Given the description of an element on the screen output the (x, y) to click on. 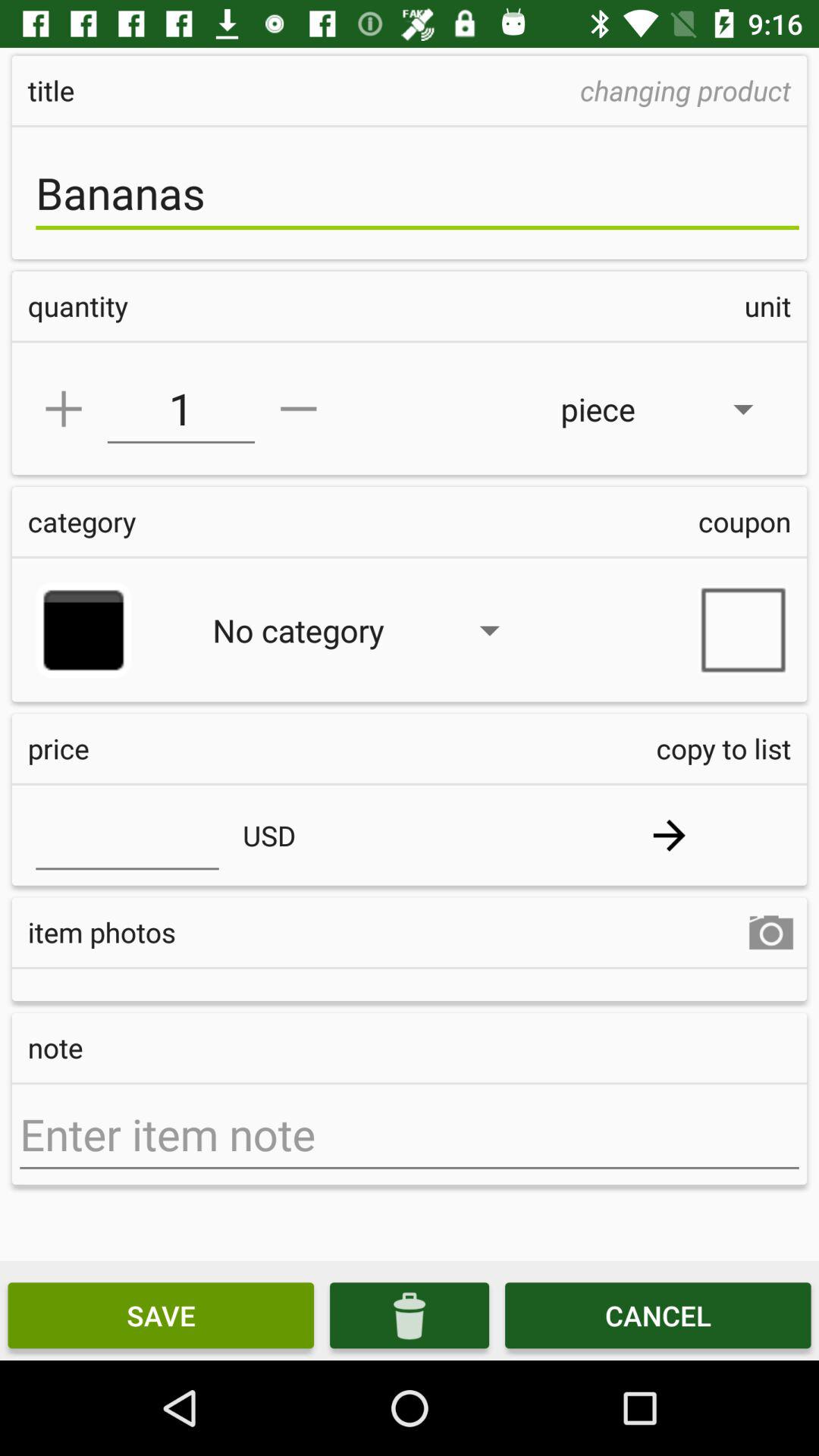
turn on the item to the right of the save (409, 1315)
